Given the description of an element on the screen output the (x, y) to click on. 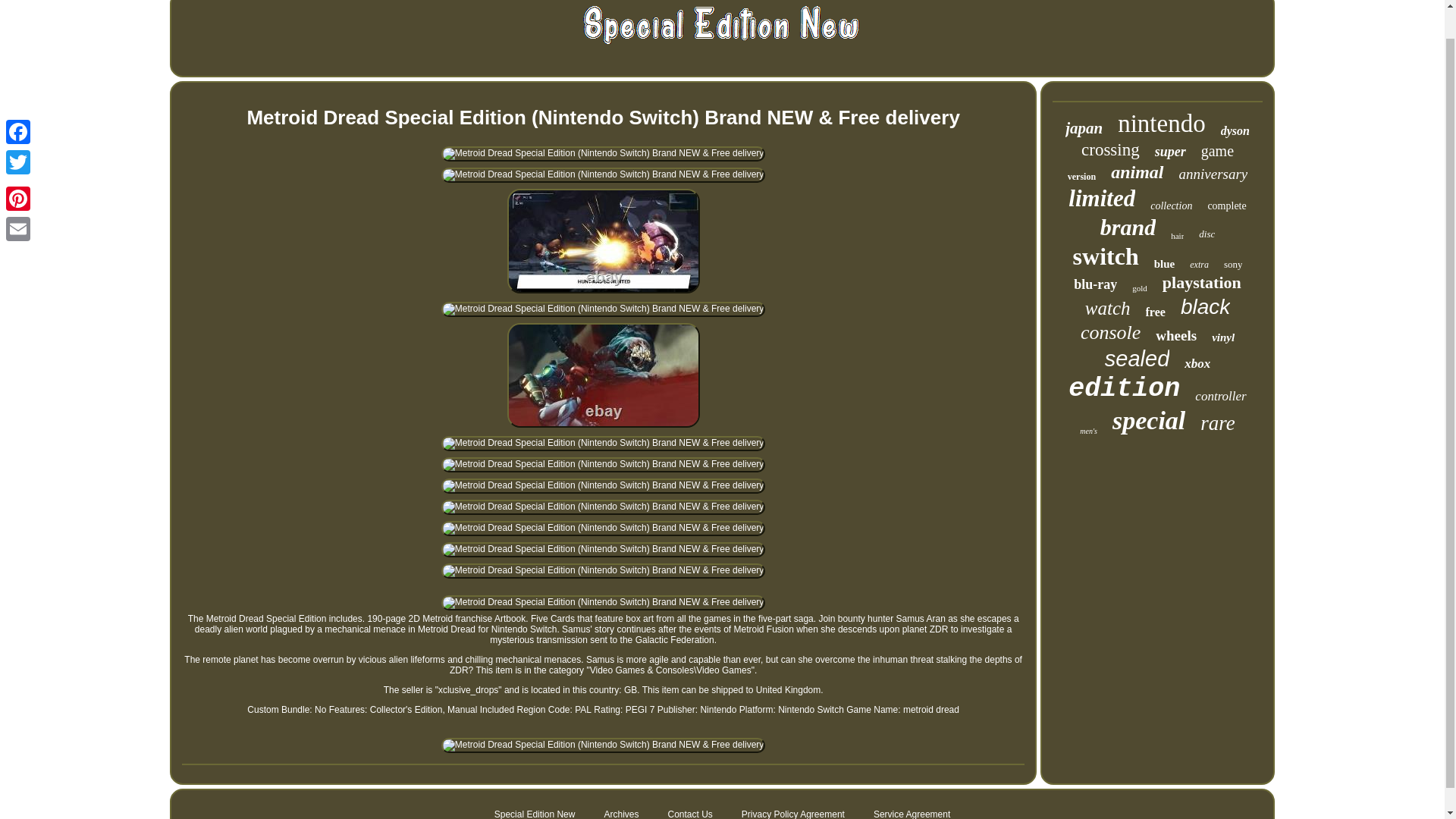
gold (1139, 287)
Pinterest (17, 168)
animal (1136, 172)
Facebook (17, 101)
hair (1176, 235)
game (1217, 150)
dyson (1235, 131)
free (1155, 312)
Email (17, 198)
Twitter (17, 132)
